Given the description of an element on the screen output the (x, y) to click on. 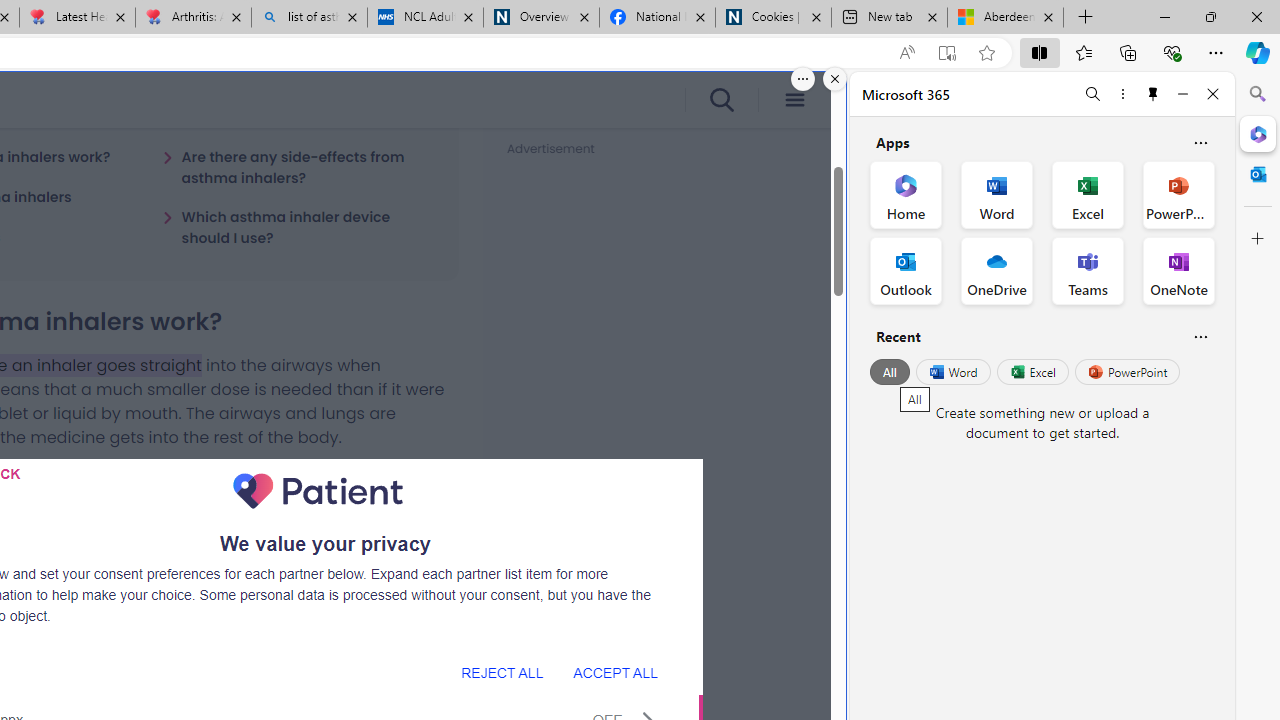
Aberdeen, Hong Kong SAR hourly forecast | Microsoft Weather (1005, 17)
Which asthma inhaler device should I use? (298, 227)
All (890, 372)
Close split screen. (835, 79)
